Given the description of an element on the screen output the (x, y) to click on. 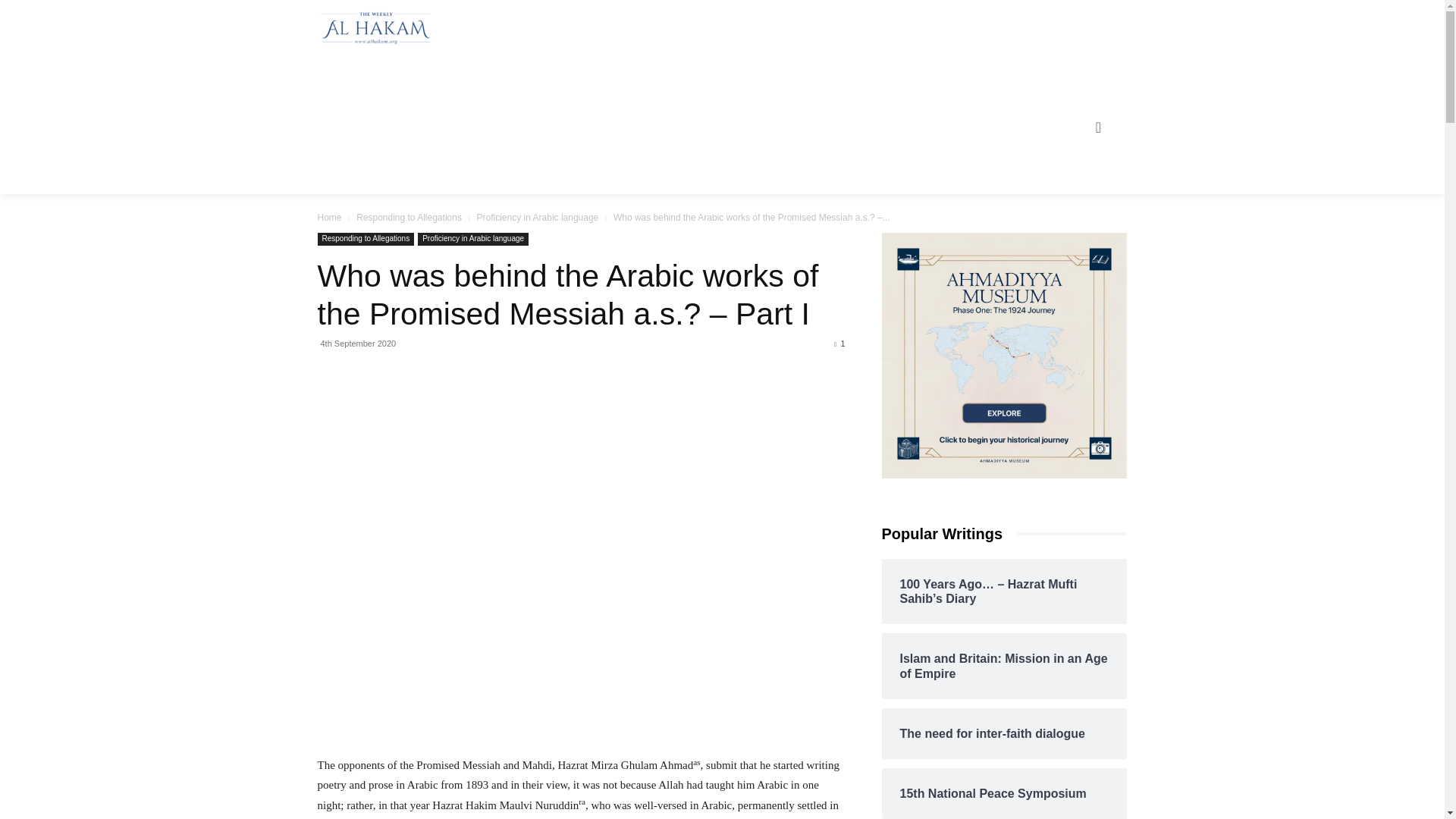
View all posts in Responding to Allegations (408, 217)
Alhakam (372, 27)
View all posts in Proficiency in Arabic language (537, 217)
